Given the description of an element on the screen output the (x, y) to click on. 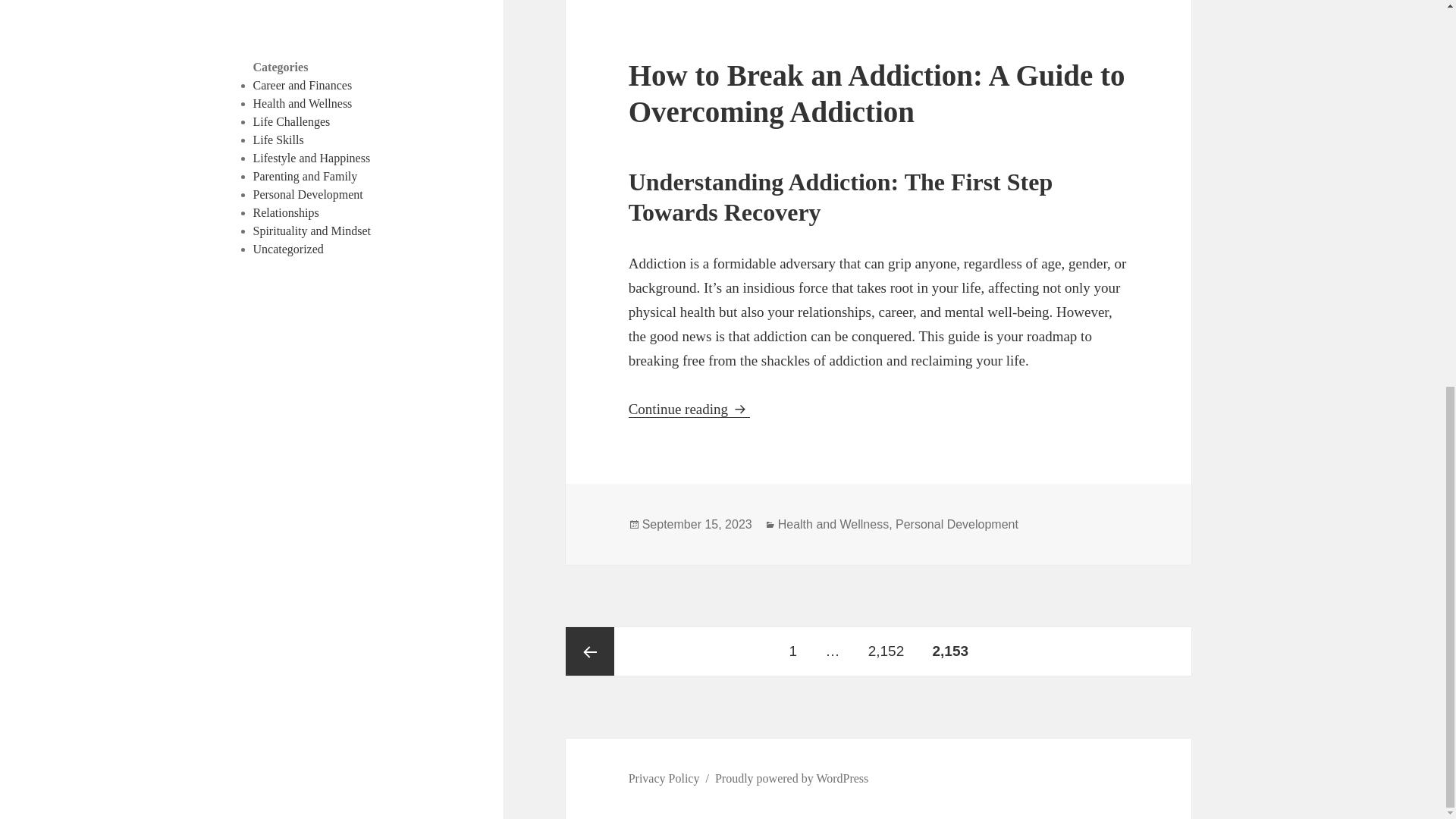
Privacy Policy (664, 778)
Lifestyle and Happiness (312, 157)
Personal Development (886, 651)
How to Break an Addiction: A Guide to Overcoming Addiction (307, 194)
Proudly powered by WordPress (876, 92)
Career and Finances (790, 778)
Health and Wellness (302, 84)
Relationships (302, 103)
